Given the description of an element on the screen output the (x, y) to click on. 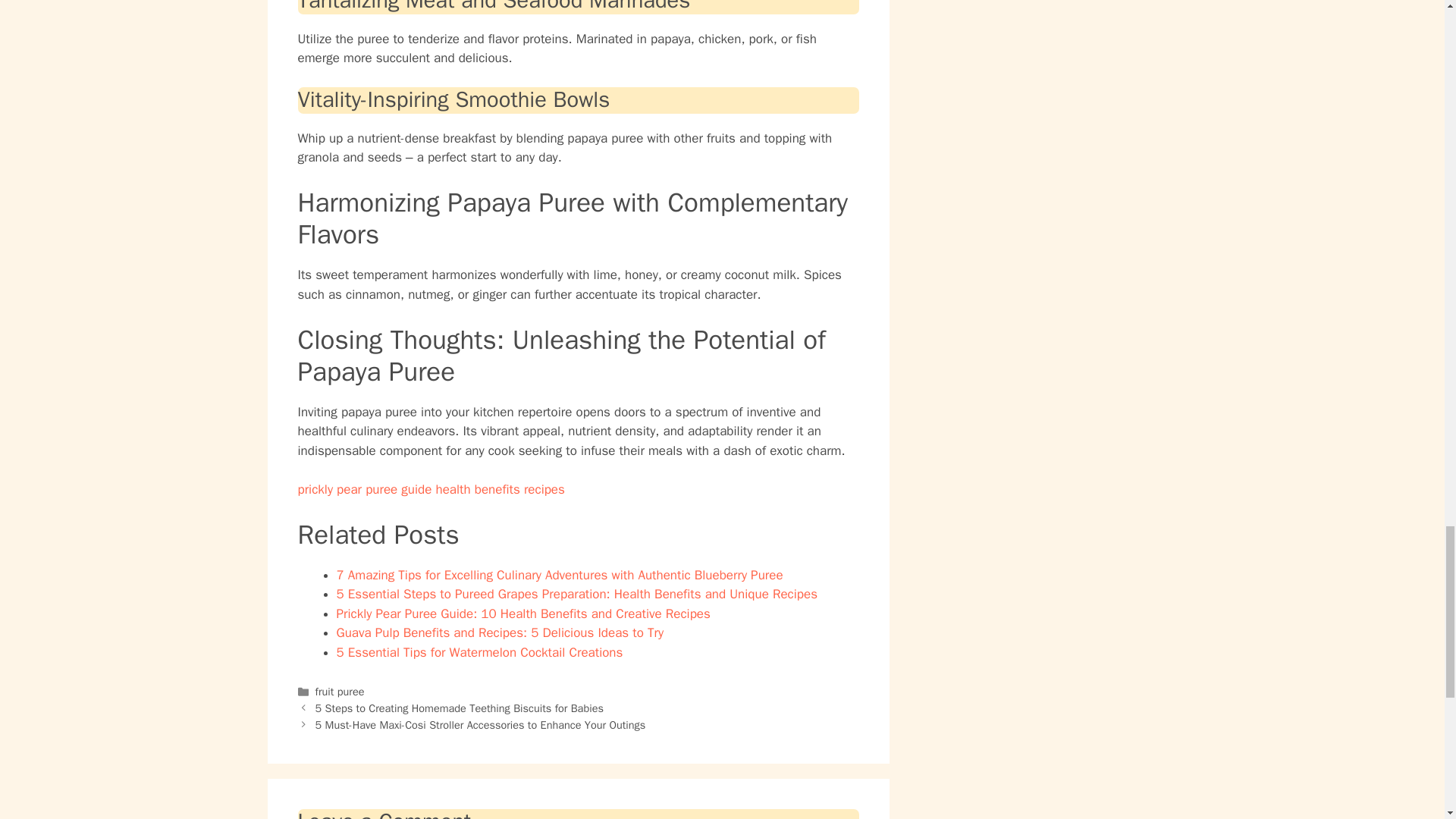
fruit puree (340, 691)
5 Essential Tips for Watermelon Cocktail Creations (479, 652)
prickly pear puree guide health benefits recipes (430, 489)
5 Steps to Creating Homemade Teething Biscuits for Babies (459, 707)
Guava Pulp Benefits and Recipes: 5 Delicious Ideas to Try (499, 632)
